Given the description of an element on the screen output the (x, y) to click on. 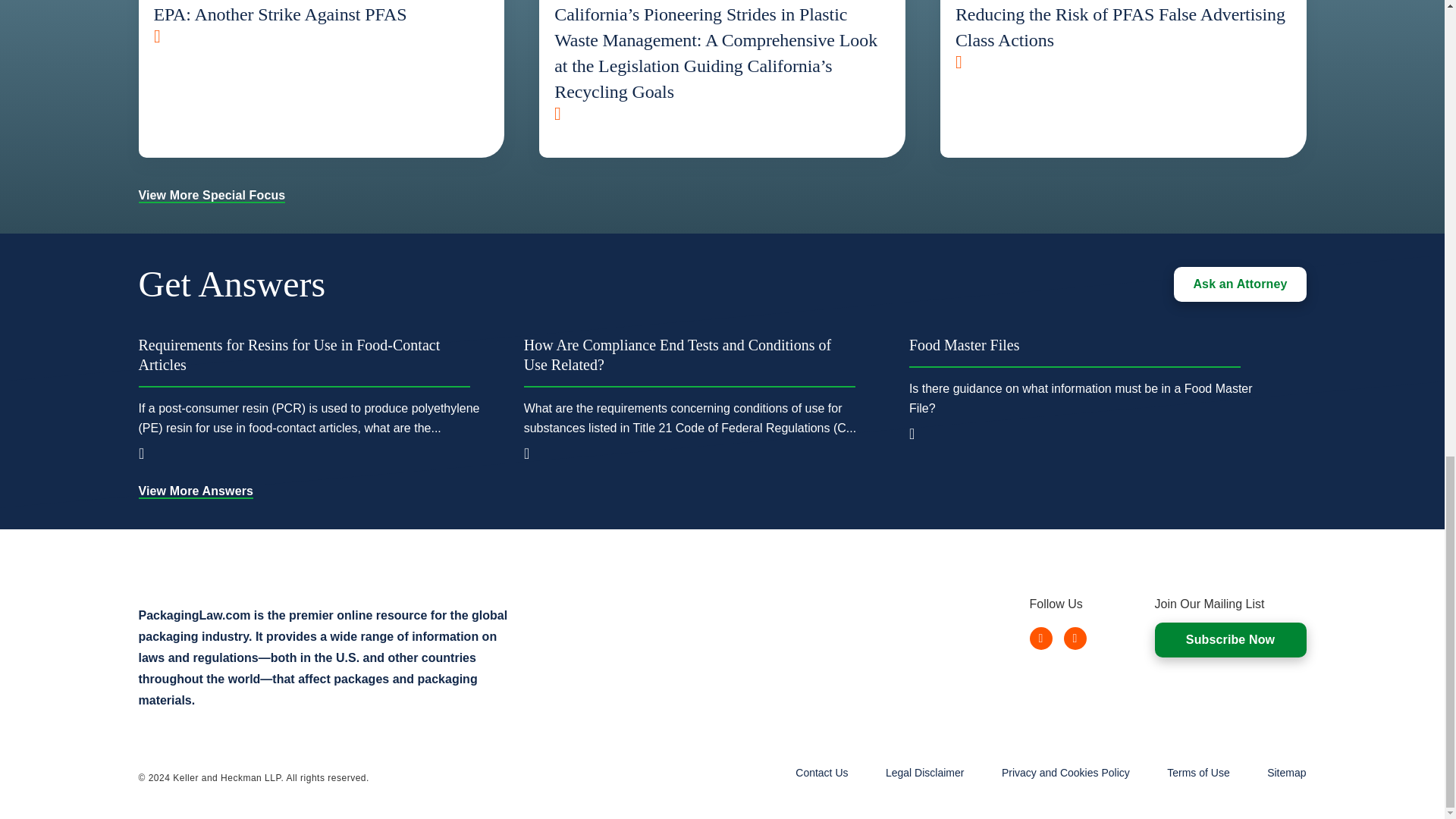
Requirements for Resins for Use in Food-Contact Articles (303, 360)
Ask an Attorney (1239, 284)
EPA: Another Strike Against PFAS (320, 21)
How Are Compliance End Tests and Conditions of Use Related? (690, 360)
View More Special Focus (211, 195)
Keller and Heckman (212, 570)
Food Master Files (1074, 350)
Reducing the Risk of PFAS False Advertising Class Actions (1123, 33)
View More Answers (195, 490)
